Given the description of an element on the screen output the (x, y) to click on. 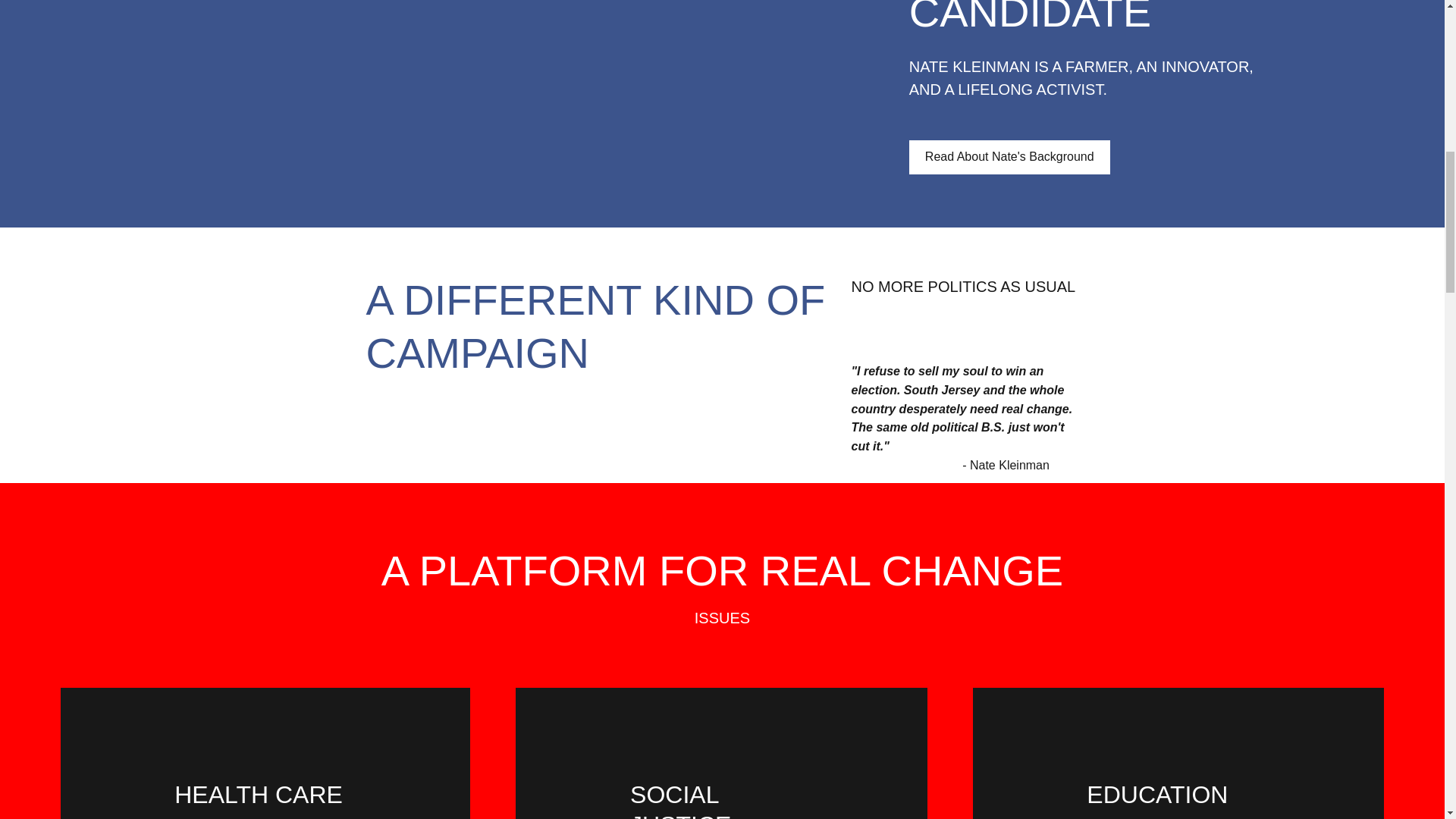
Read About Nate's Background (1008, 157)
